Given the description of an element on the screen output the (x, y) to click on. 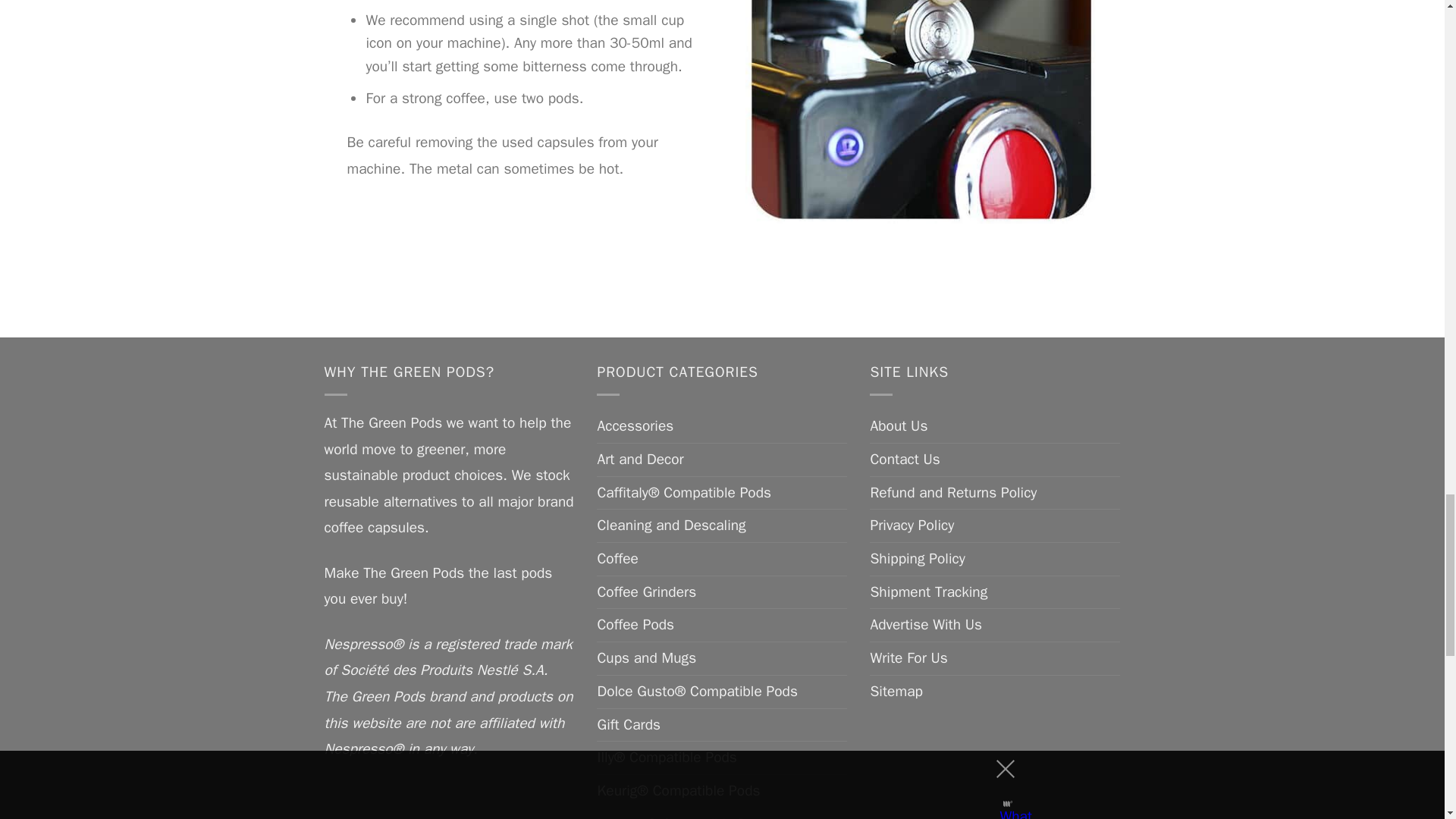
How To Use Your Green Nespresso Pods 5 (920, 111)
